Given the description of an element on the screen output the (x, y) to click on. 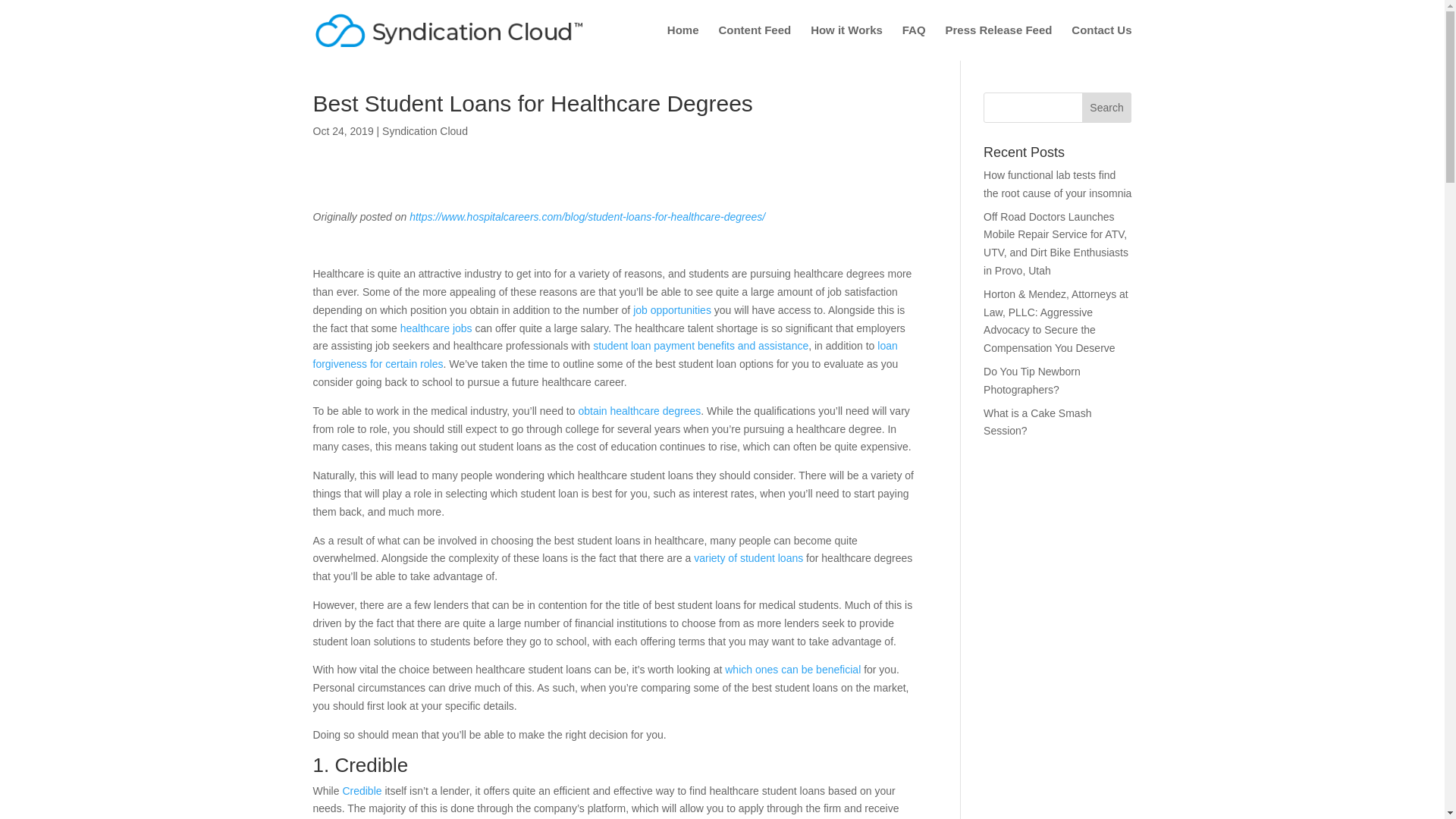
which ones can be beneficial (792, 669)
Content Feed (753, 42)
healthcare jobs (435, 328)
FAQ (914, 42)
Home (682, 42)
Press Release Feed (997, 42)
variety of student loans (748, 558)
Syndication Cloud (424, 131)
loan forgiveness for certain roles (604, 354)
Credible (361, 790)
job opportunities (672, 309)
obtain healthcare degrees (639, 410)
How it Works (846, 42)
student loan payment benefits and assistance (700, 345)
Contact Us (1101, 42)
